Given the description of an element on the screen output the (x, y) to click on. 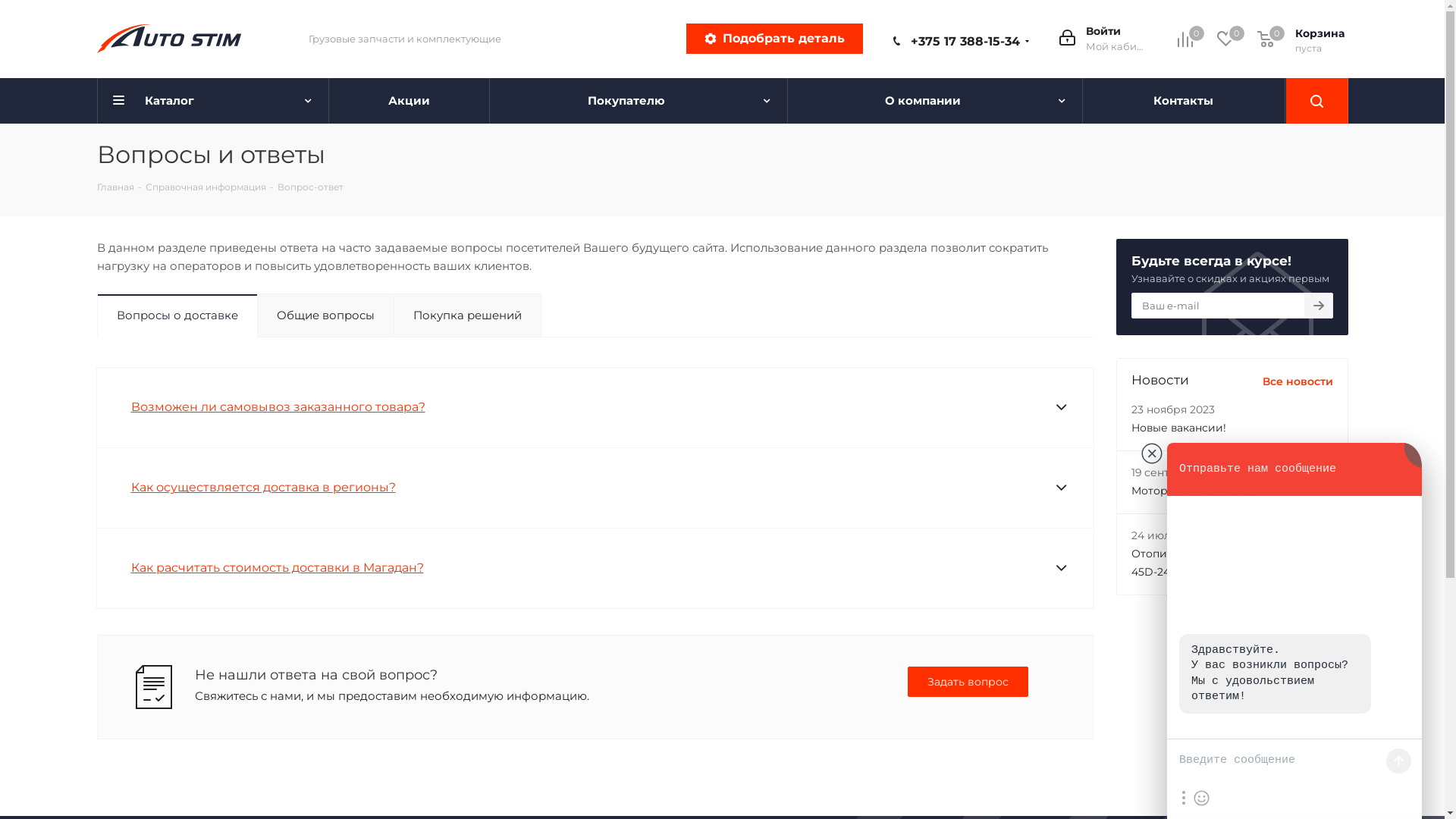
AUTO STIM Element type: hover (169, 38)
+375 17 388-15-34 Element type: text (964, 40)
